Given the description of an element on the screen output the (x, y) to click on. 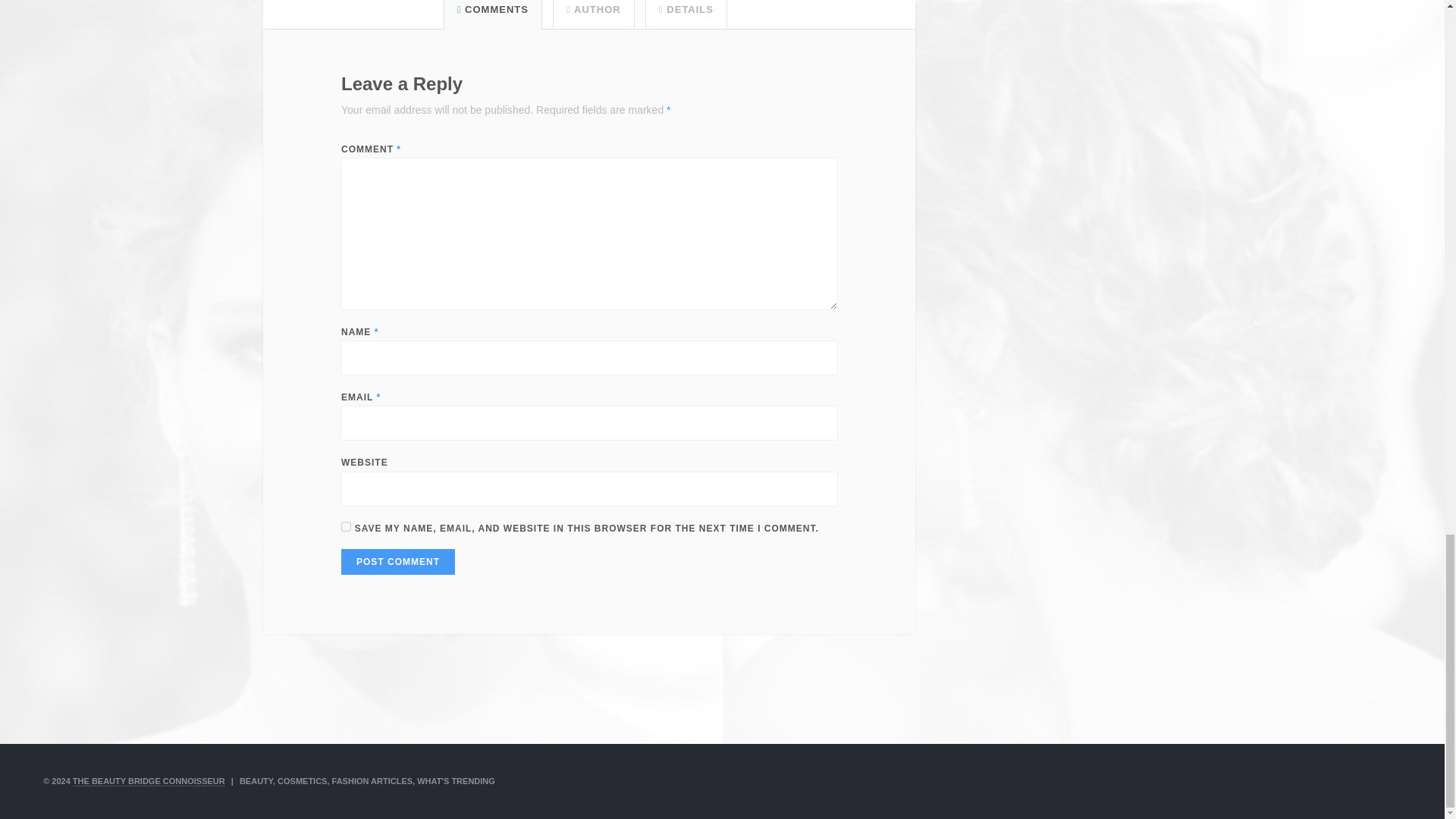
COMMENTS (492, 9)
DETAILS (686, 9)
Post Comment (397, 561)
AUTHOR (593, 9)
yes (345, 526)
